Given the description of an element on the screen output the (x, y) to click on. 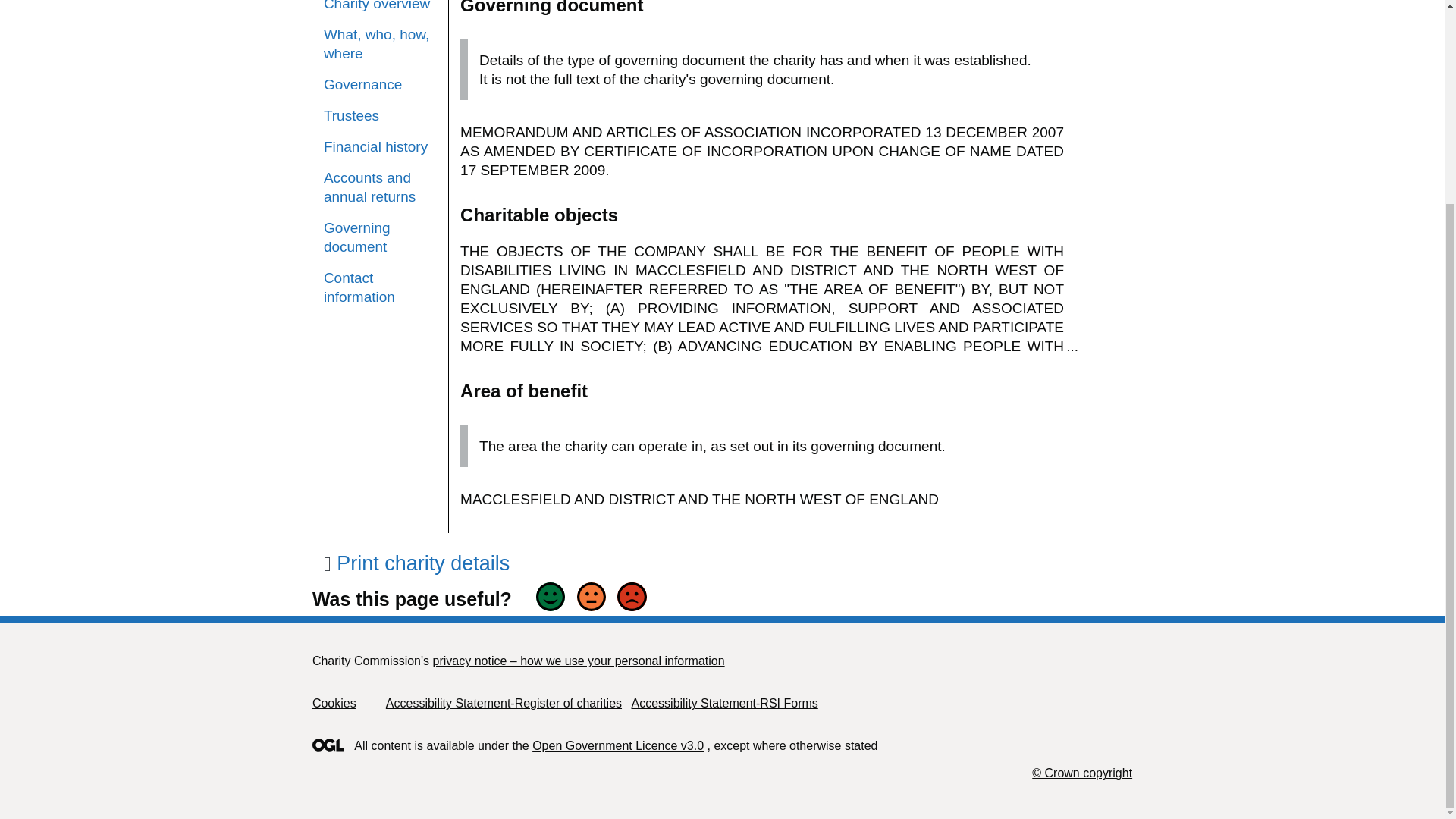
Contact information (379, 287)
Accounts and annual returns (379, 187)
Accessibility Statement-Register of charities (503, 703)
Trustees (379, 115)
Charity overview (379, 6)
Open Government Licence v3.0 (617, 745)
Cookies (334, 703)
Governance (379, 84)
Print charity details (416, 563)
Governing document (356, 237)
Accessibility Statement-RSI Forms (723, 703)
Financial history (379, 146)
What, who, how, where (379, 44)
